Given the description of an element on the screen output the (x, y) to click on. 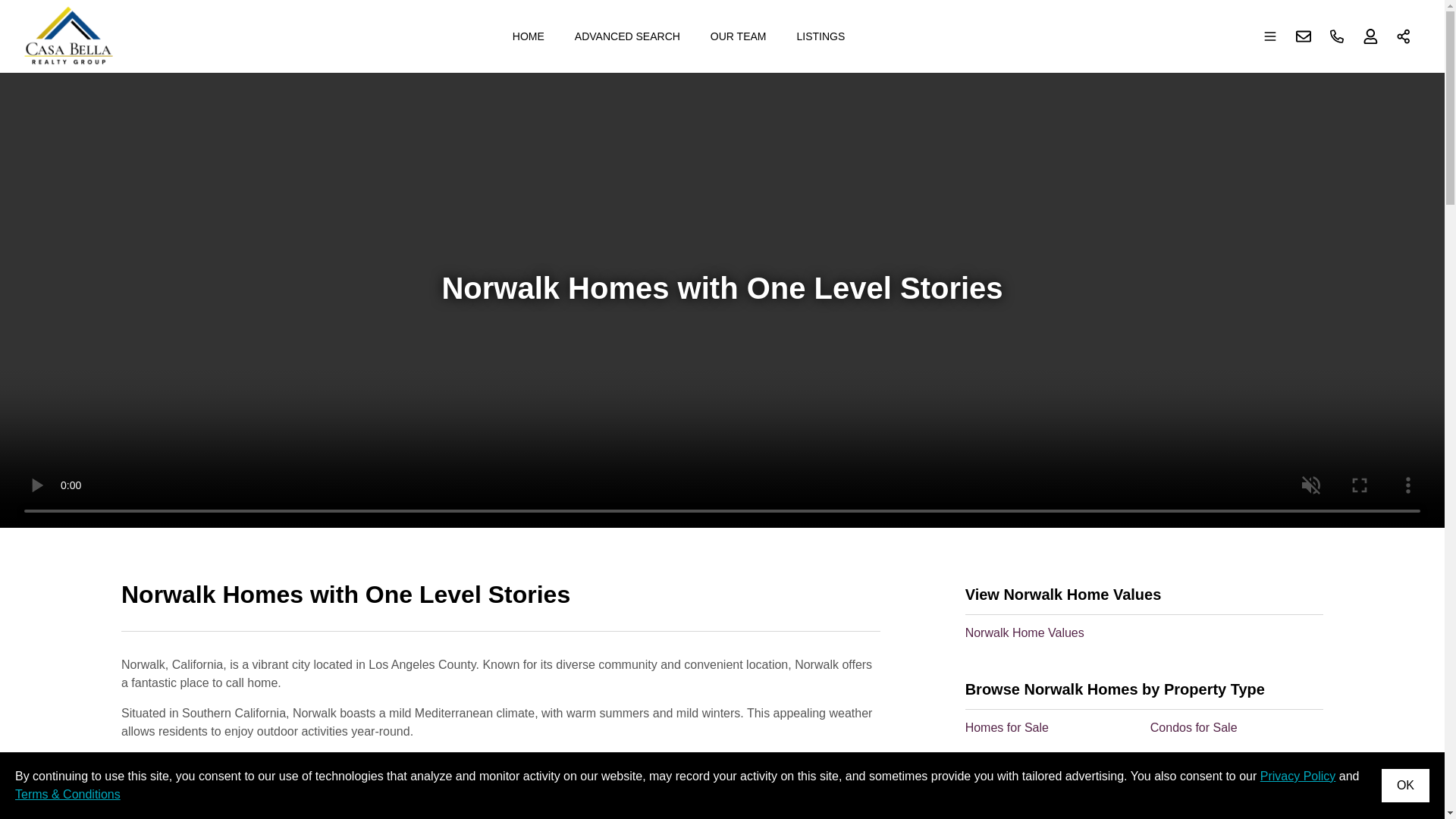
ADVANCED SEARCH (627, 36)
Norwalk Homes with One Level Stories (500, 603)
Open main menu (1270, 36)
Share (1404, 36)
LISTINGS (820, 36)
Contact us (1303, 36)
OUR TEAM (738, 36)
Phone number (1337, 36)
Casabellarealtyusa.com (68, 35)
Sign up or Sign in (1370, 36)
